Given the description of an element on the screen output the (x, y) to click on. 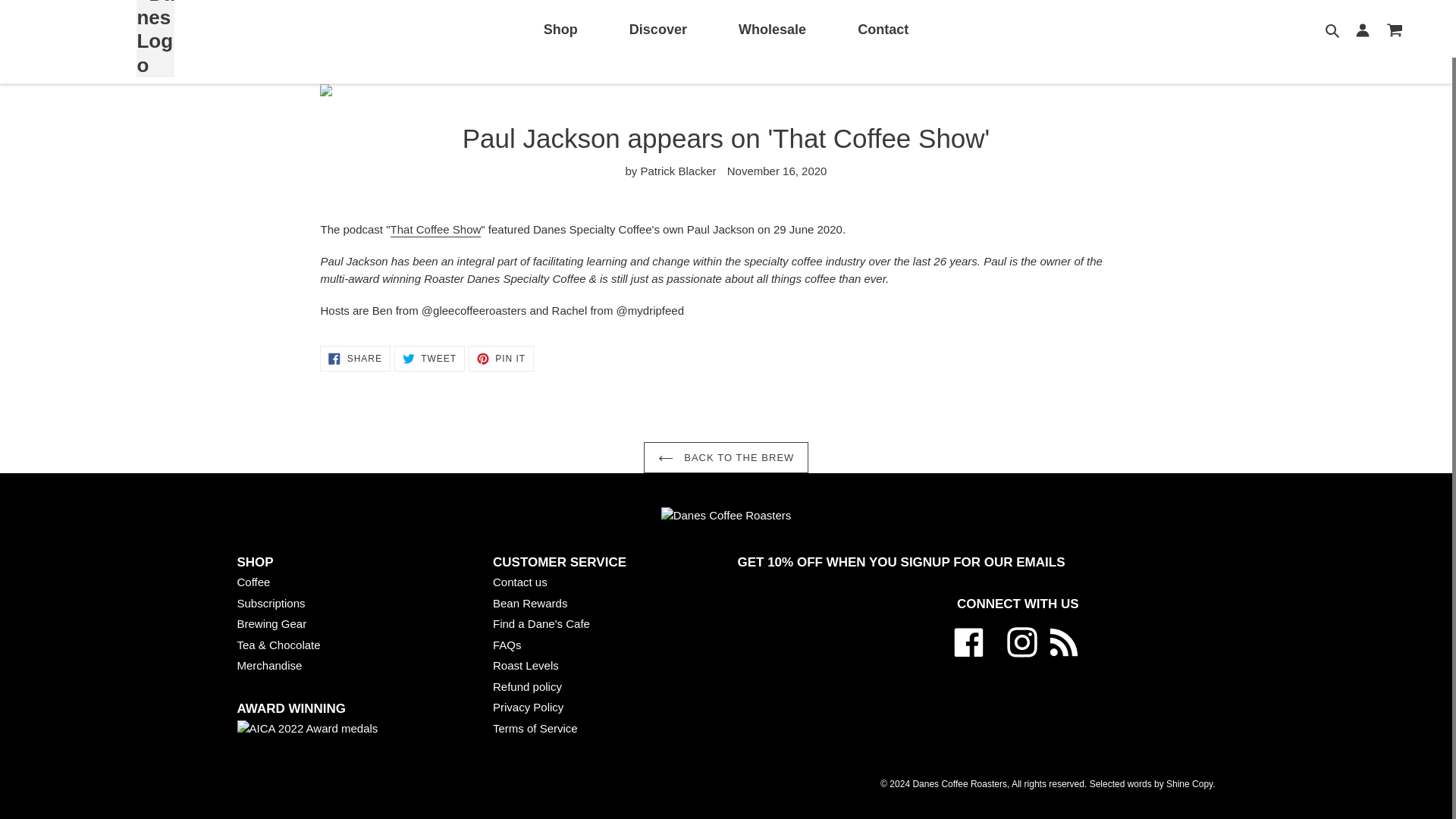
Discover (657, 29)
Search (1333, 29)
Log in (1362, 29)
Wholesale (771, 29)
Contact (882, 29)
Cart (1394, 29)
Shop (560, 29)
